Given the description of an element on the screen output the (x, y) to click on. 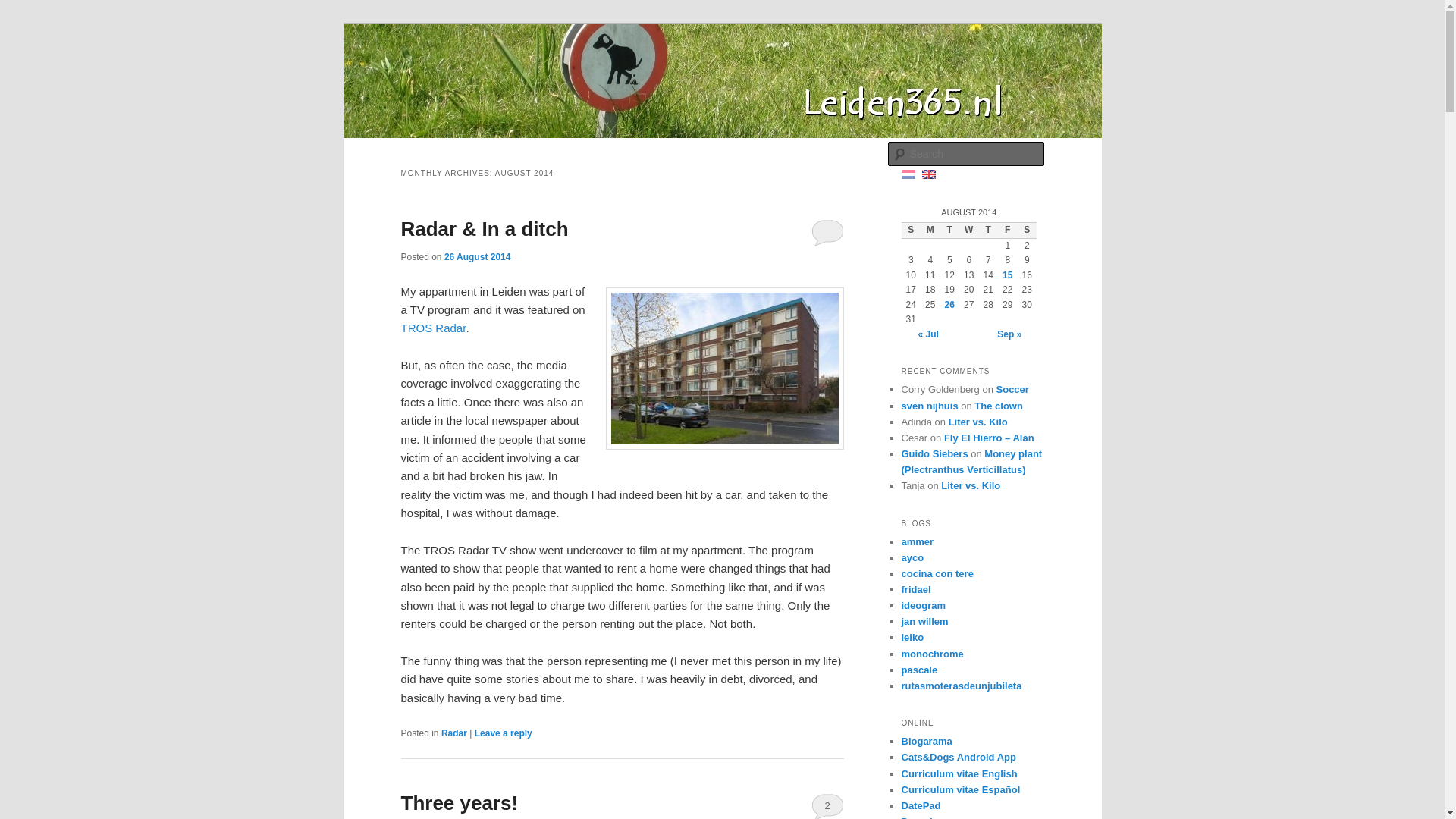
ayco (912, 557)
Wednesday (968, 230)
cocina con tere (936, 573)
Soccer (1012, 389)
Leave a reply (503, 733)
Search (24, 8)
Three years! (459, 802)
ammer (917, 541)
leiko (912, 636)
